Given the description of an element on the screen output the (x, y) to click on. 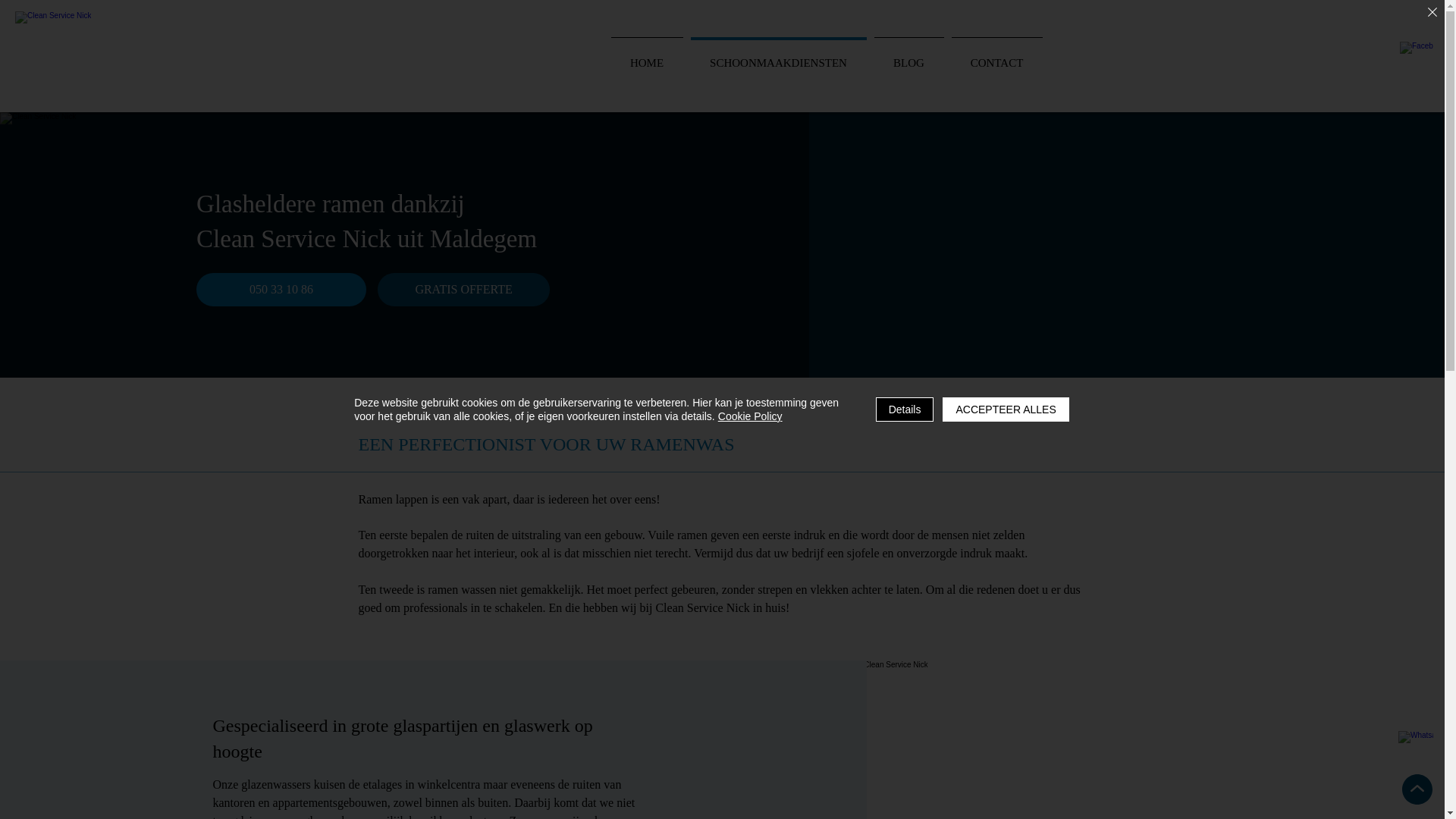
Details Element type: text (904, 409)
BLOG Element type: text (908, 56)
Cookie Policy Element type: text (750, 416)
CONTACT Element type: text (996, 56)
GRATIS OFFERTE Element type: text (463, 289)
050 33 10 86 Element type: text (281, 289)
SCHOONMAAKDIENSTEN Element type: text (778, 56)
HOME Element type: text (646, 56)
ACCEPTEER ALLES Element type: text (1005, 409)
